Given the description of an element on the screen output the (x, y) to click on. 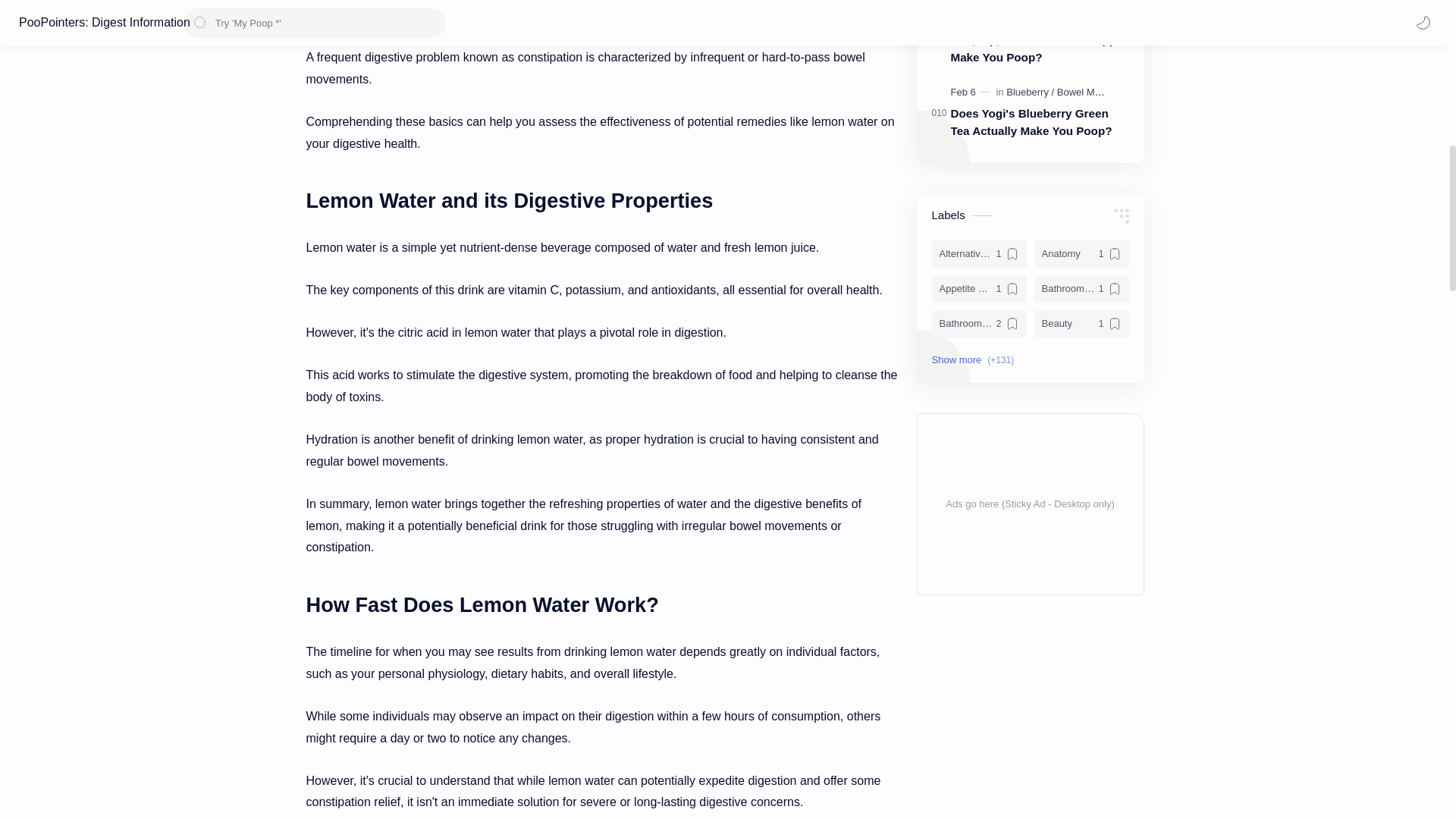
Published: January 30, 2024 (973, 18)
Published: February 6, 2024 (971, 92)
